Given the description of an element on the screen output the (x, y) to click on. 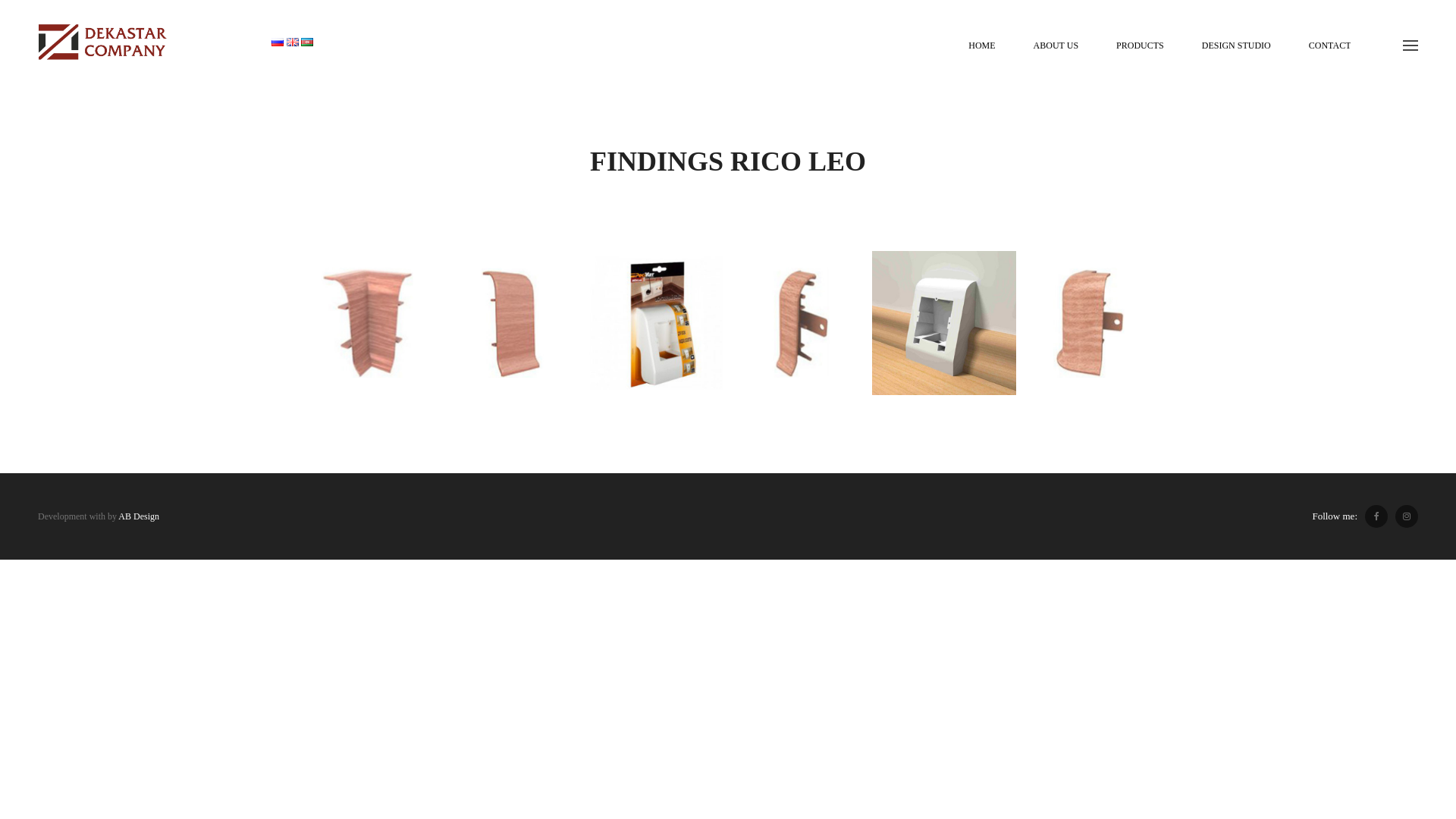
DESIGN STUDIO Element type: text (1235, 45)
English Element type: hover (292, 41)
AB Design Element type: text (138, 516)
ABOUT US Element type: text (1055, 45)
HOME Element type: text (981, 45)
PRODUCTS Element type: text (1140, 45)
CONTACT Element type: text (1329, 45)
